Given the description of an element on the screen output the (x, y) to click on. 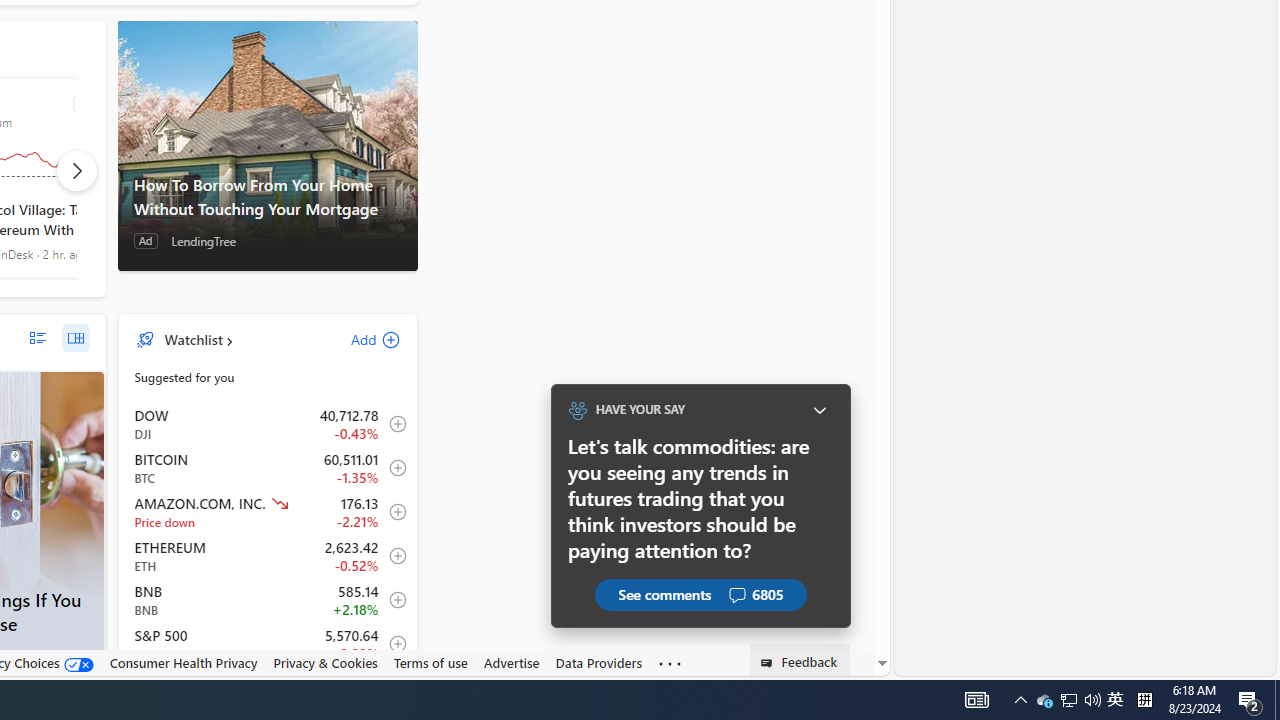
Ad (145, 241)
